Given the description of an element on the screen output the (x, y) to click on. 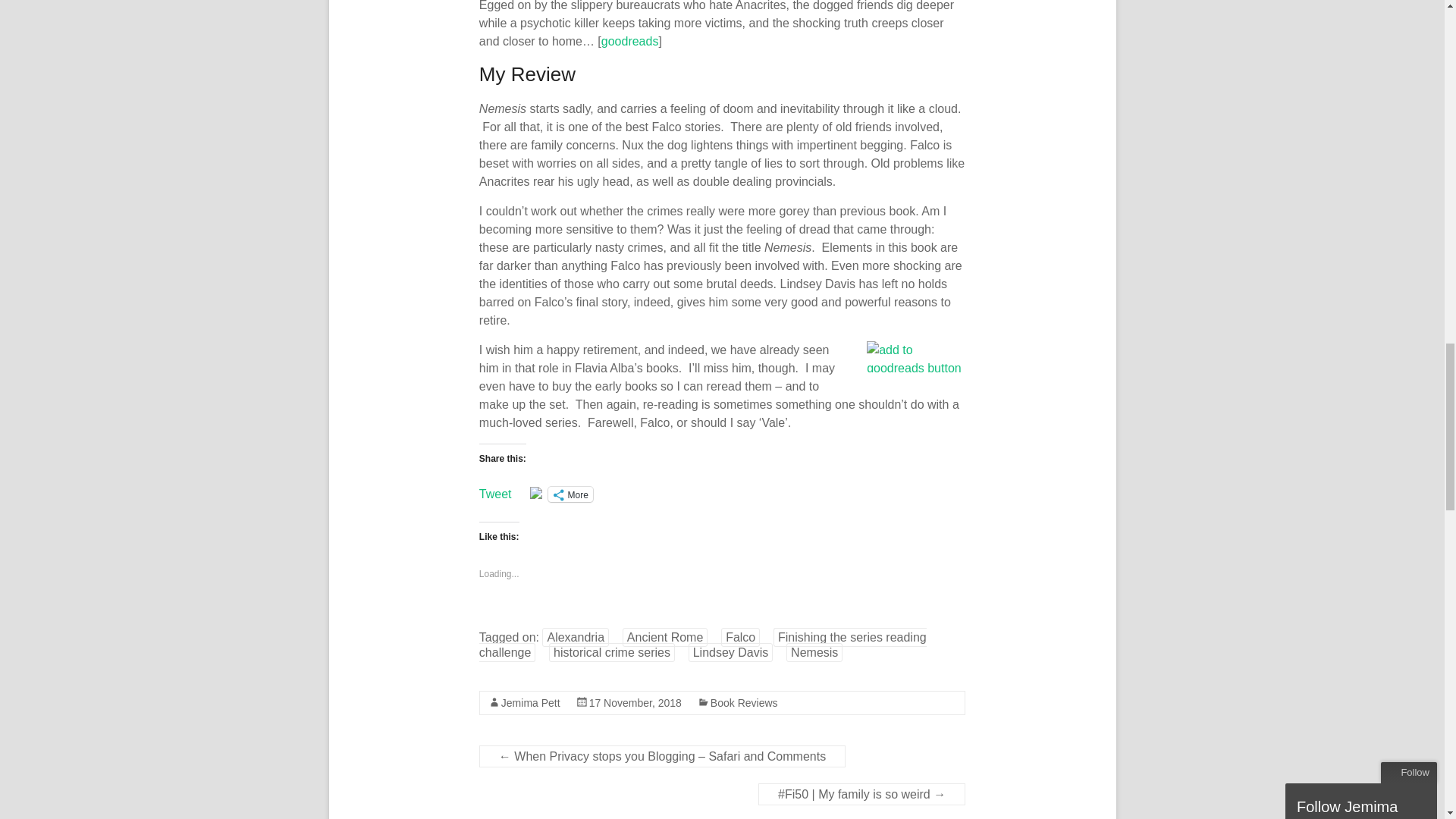
6:06 am (635, 702)
